Given the description of an element on the screen output the (x, y) to click on. 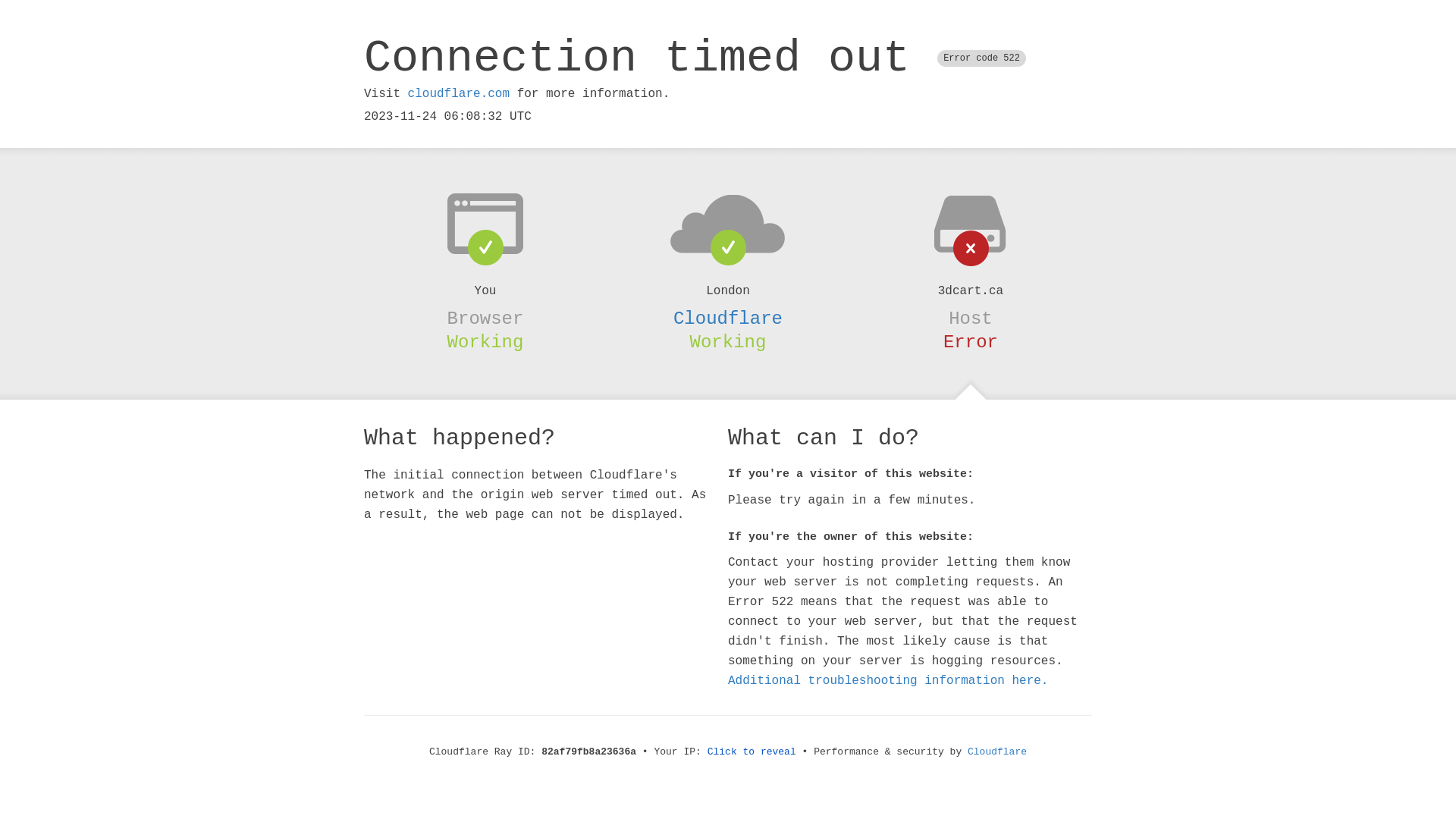
Click to reveal Element type: text (751, 751)
cloudflare.com Element type: text (458, 93)
Cloudflare Element type: text (996, 751)
Additional troubleshooting information here. Element type: text (888, 680)
Cloudflare Element type: text (727, 318)
